Given the description of an element on the screen output the (x, y) to click on. 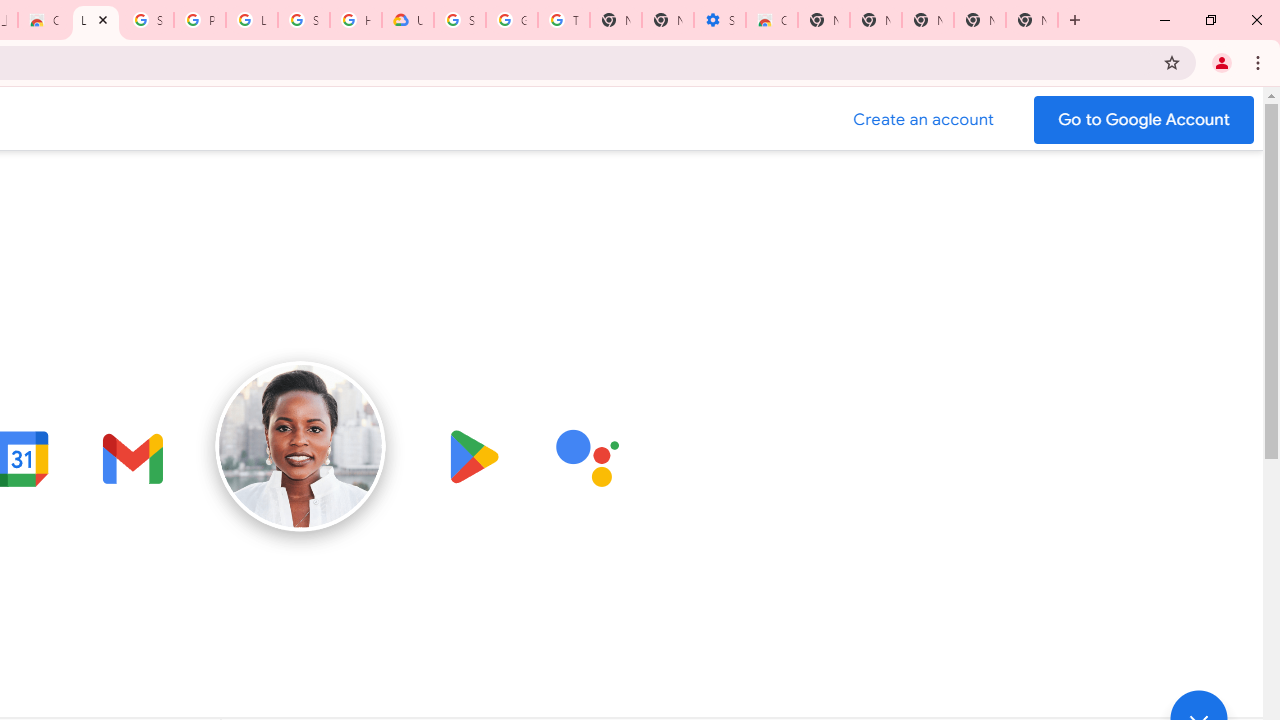
Chrome (1260, 62)
Sign in - Google Accounts (147, 20)
Close (102, 19)
Chrome Web Store - Accessibility extensions (771, 20)
New Tab (823, 20)
New Tab (1032, 20)
Sign in - Google Accounts (303, 20)
Minimize (1165, 20)
Go to your Google Account (1144, 119)
Sign in - Google Accounts (459, 20)
New Tab (1075, 20)
Bookmark this tab (1171, 62)
You (1221, 62)
